Given the description of an element on the screen output the (x, y) to click on. 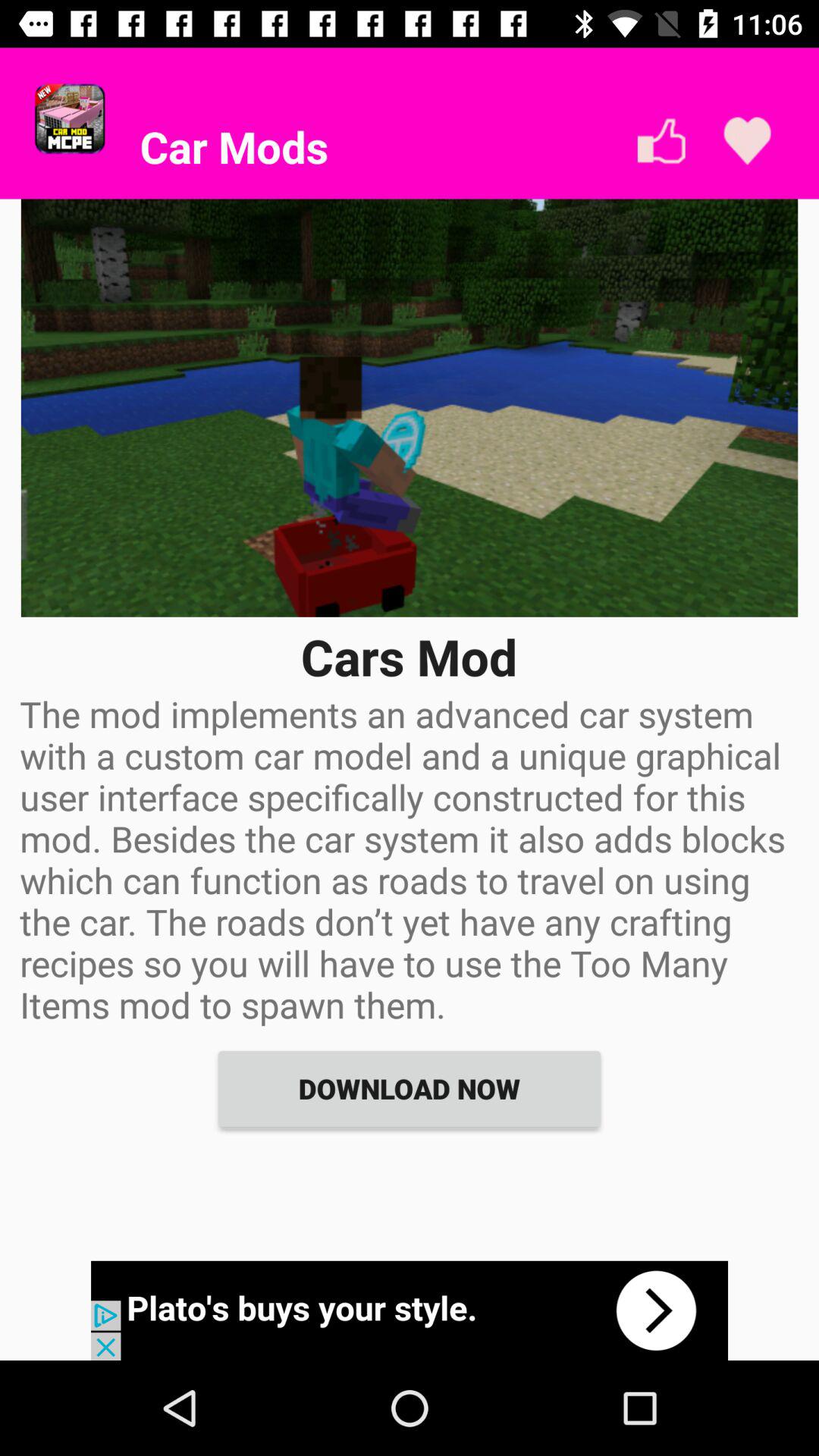
like it (747, 140)
